Given the description of an element on the screen output the (x, y) to click on. 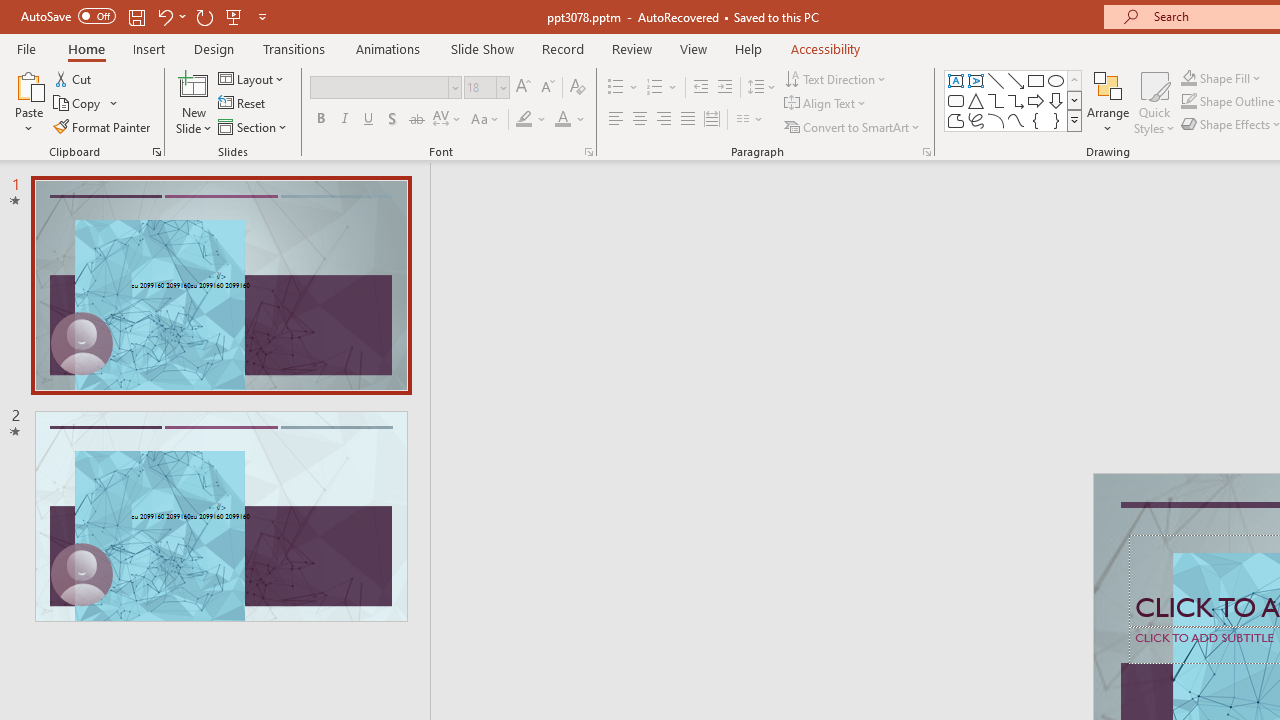
Arrange (1108, 102)
Shape Fill (1221, 78)
Connector: Elbow Arrow (1016, 100)
AutomationID: ShapesInsertGallery (1014, 100)
Freeform: Scribble (975, 120)
Text Direction (836, 78)
Character Spacing (447, 119)
Decrease Font Size (547, 87)
Font Color (569, 119)
